Given the description of an element on the screen output the (x, y) to click on. 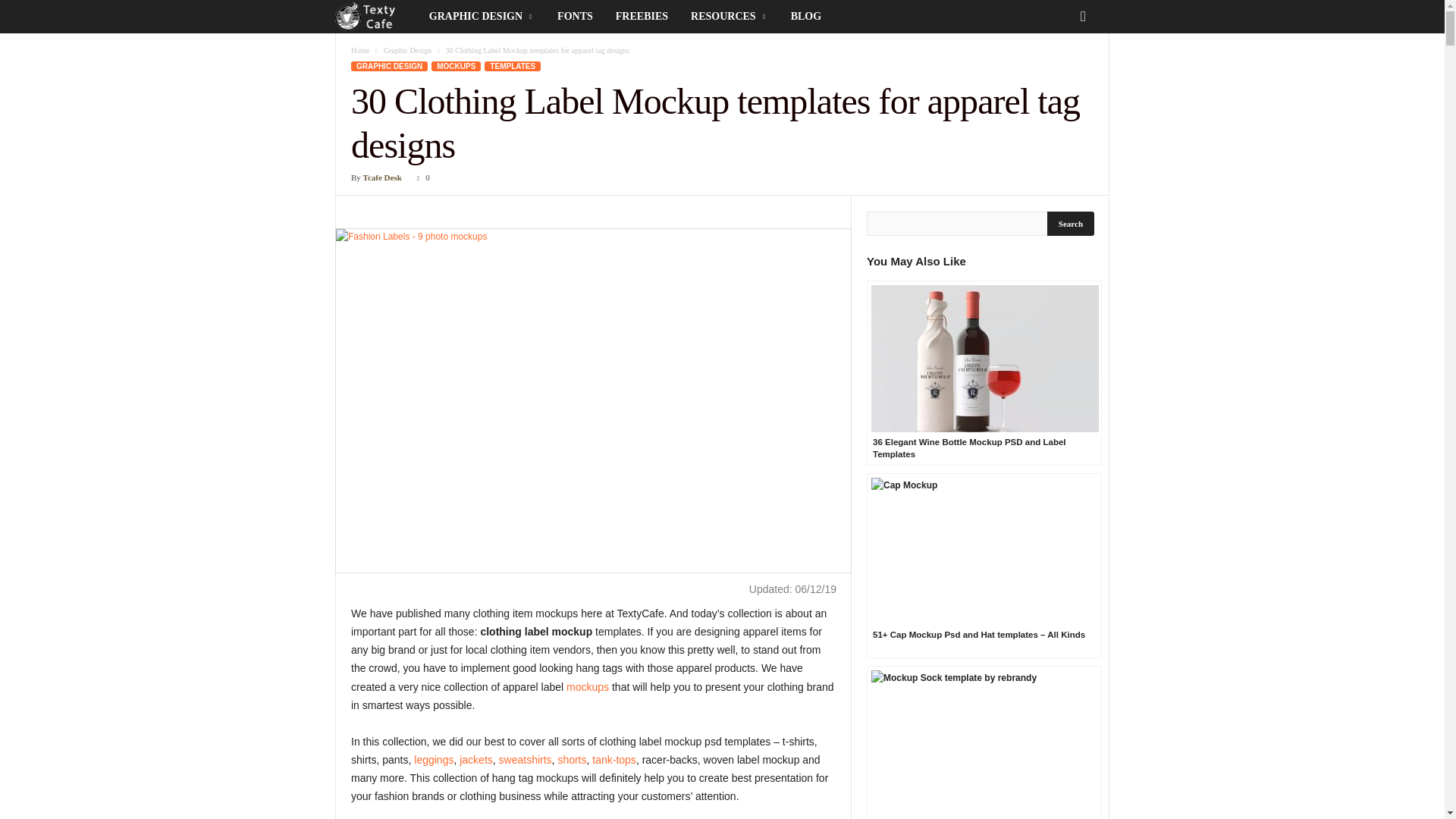
RESOURCES (728, 16)
Graphic Design (407, 49)
GRAPHIC DESIGN (389, 66)
View all posts in Graphic Design (407, 49)
Texty Cafe (375, 16)
MOCKUPS (455, 66)
Home (359, 49)
Texty Cafe (367, 16)
FONTS (575, 16)
FREEBIES (641, 16)
BLOG (805, 16)
Search (1070, 223)
GRAPHIC DESIGN (481, 16)
